Given the description of an element on the screen output the (x, y) to click on. 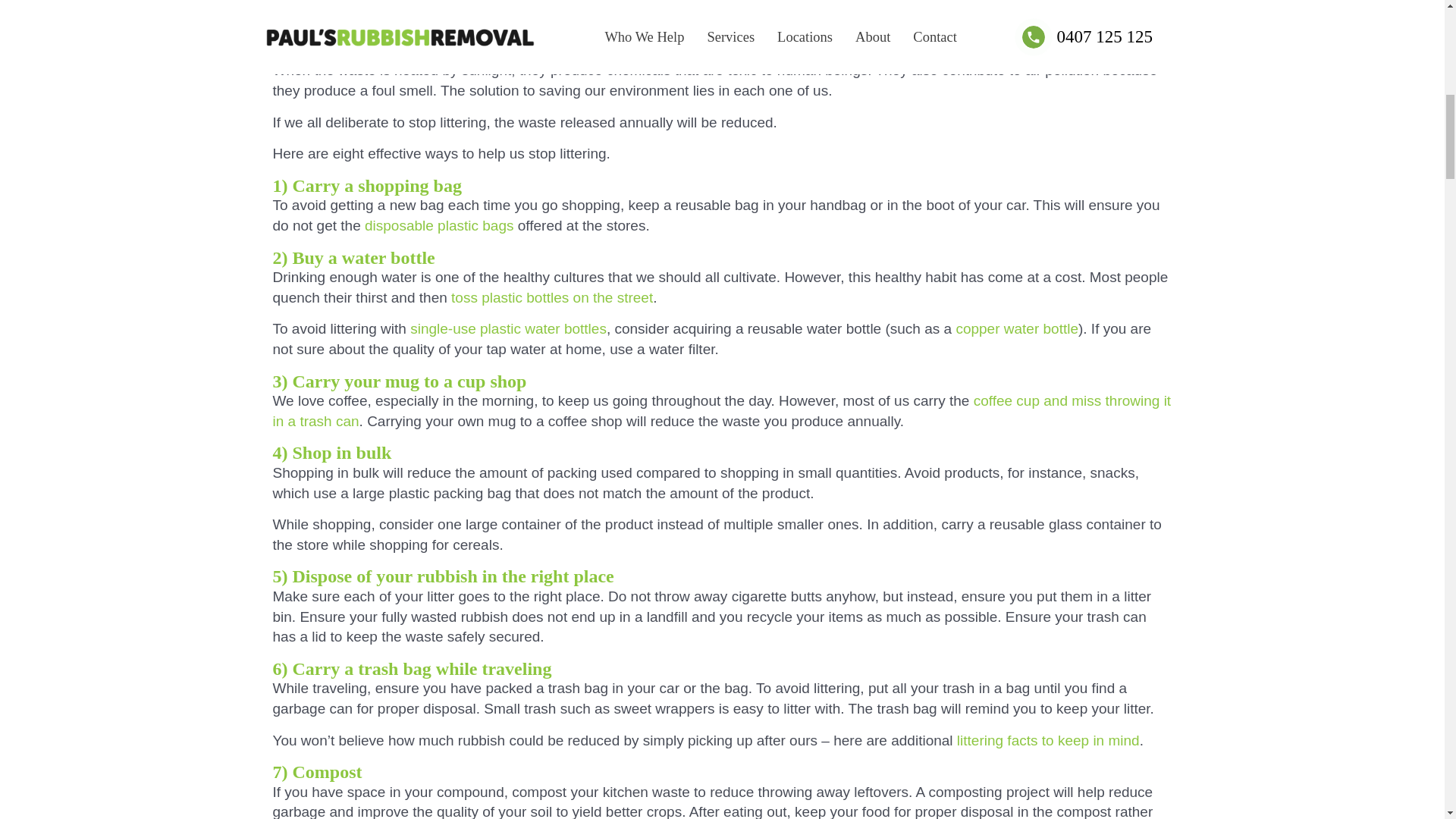
copper water bottle (1016, 328)
single-use plastic water bottles (508, 328)
coffee cup and miss throwing it in a trash can (722, 411)
disposable plastic bags (439, 225)
toss plastic bottles on the street (551, 297)
Waste in the ocean and sea (362, 18)
littering facts to keep in mind (1048, 740)
